Given the description of an element on the screen output the (x, y) to click on. 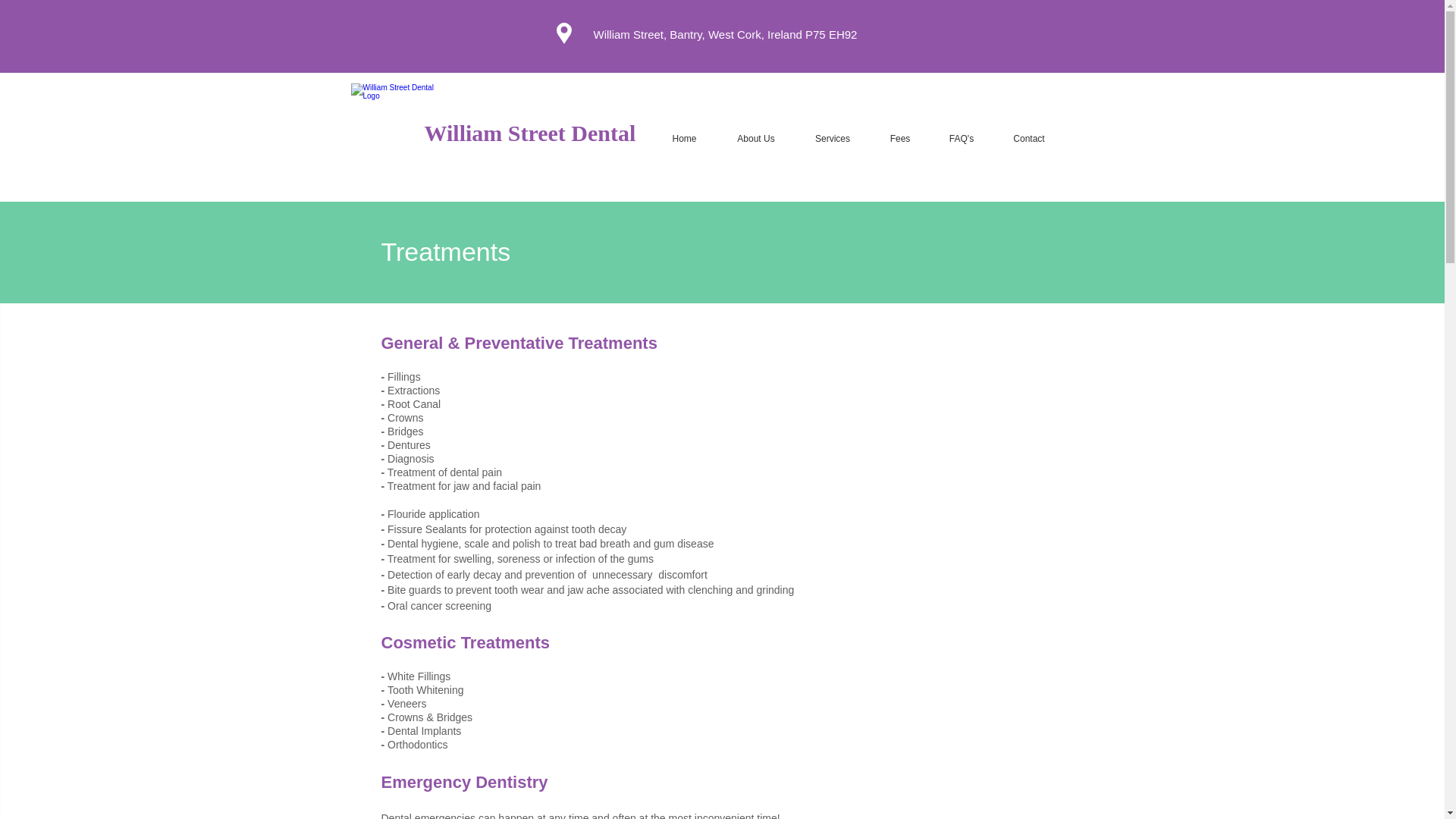
Fees (900, 138)
Services (831, 138)
About Us (755, 138)
Home (684, 138)
FAQ's (961, 138)
William Street, Bantry, West Cork, Ireland P75 EH92 (724, 33)
Contact (1028, 138)
